Given the description of an element on the screen output the (x, y) to click on. 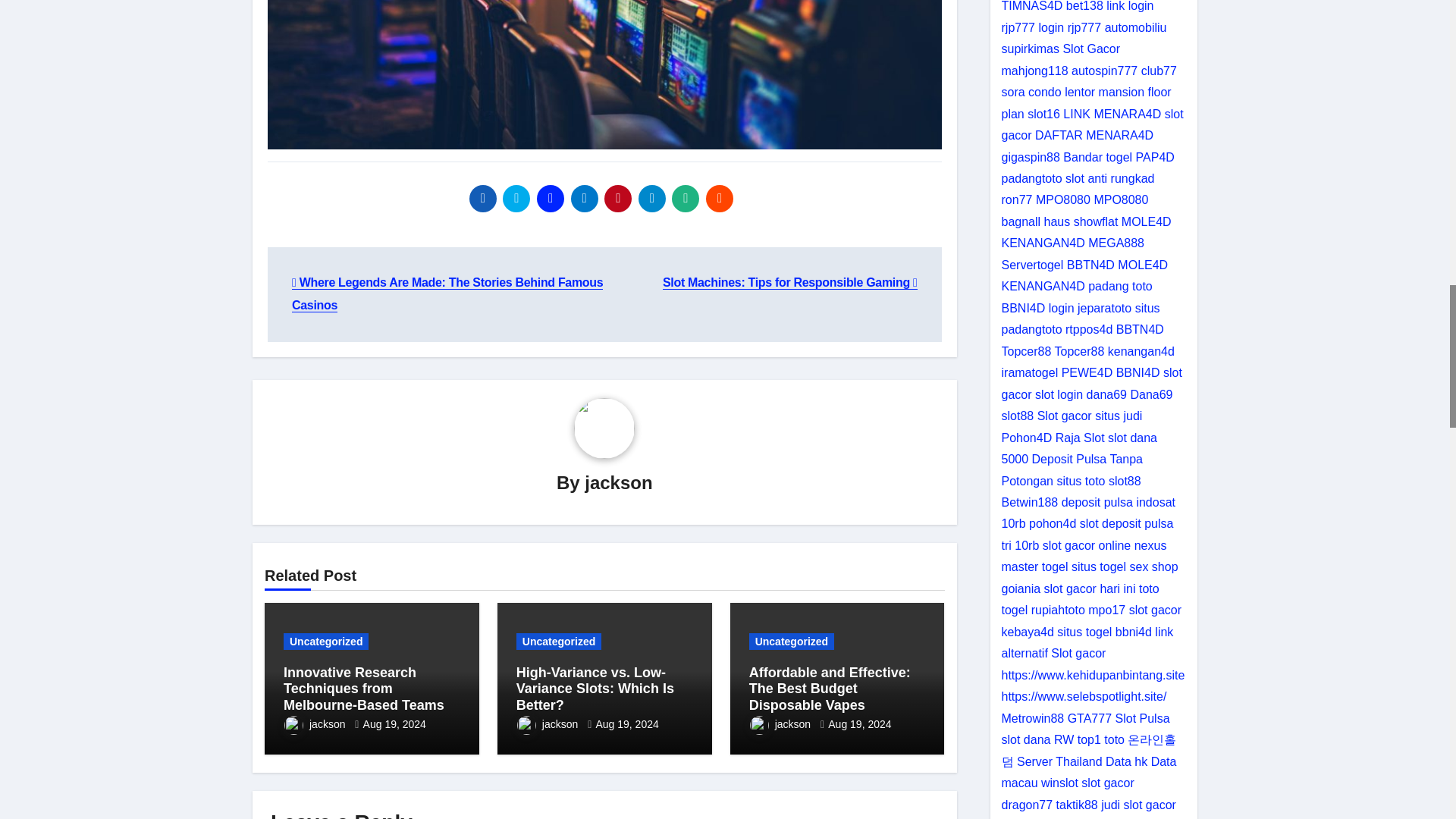
Where Legends Are Made: The Stories Behind Famous Casinos (447, 294)
Aug 19, 2024 (394, 724)
High-Variance vs. Low-Variance Slots: Which Is Better? (595, 688)
Uncategorized (558, 641)
Innovative Research Techniques from Melbourne-Based Teams (363, 688)
Slot Machines: Tips for Responsible Gaming (789, 282)
jackson (618, 482)
Uncategorized (325, 641)
